Given the description of an element on the screen output the (x, y) to click on. 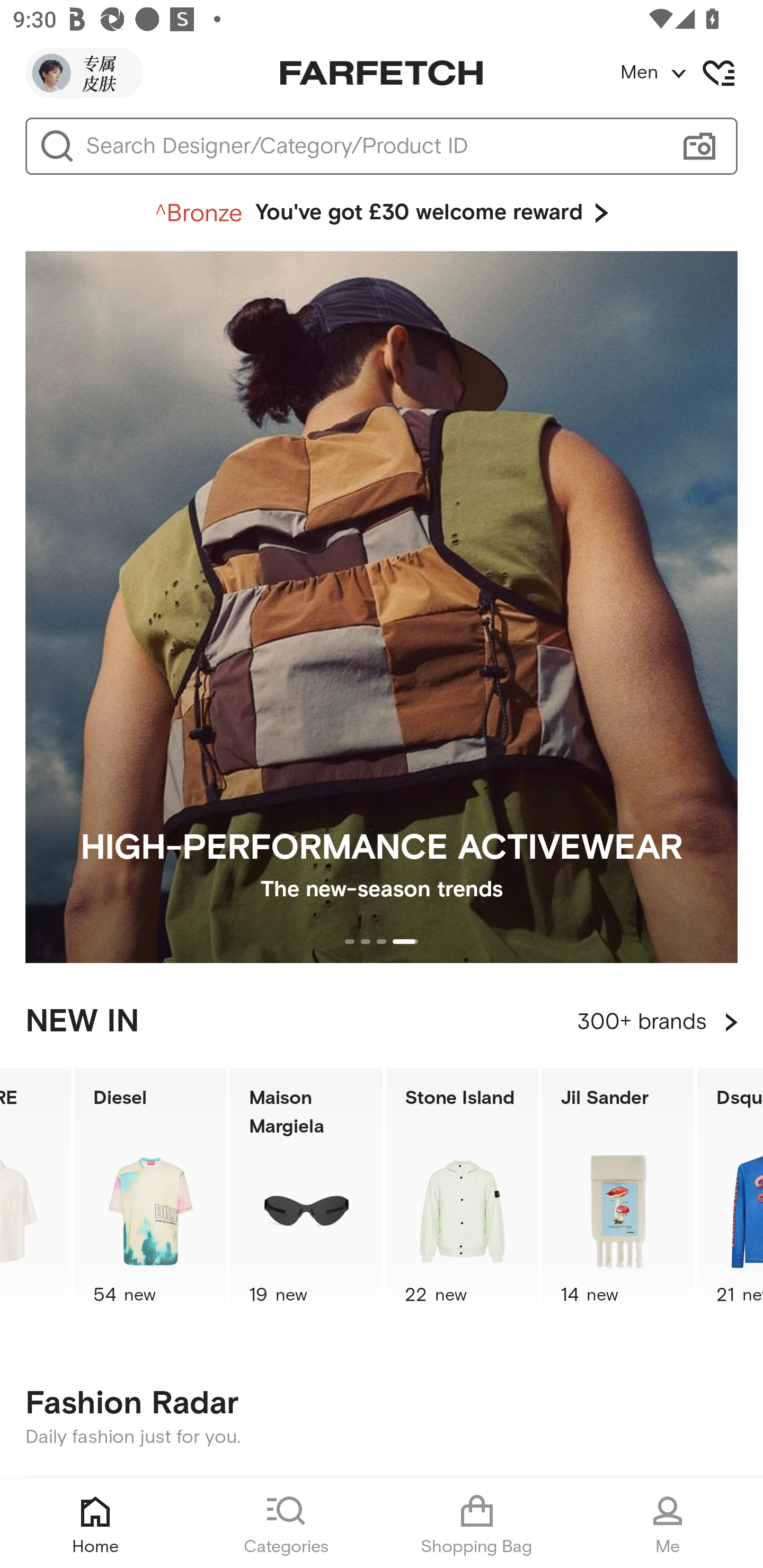
Men (691, 72)
Search Designer/Category/Product ID (373, 146)
You've got £30 welcome reward (381, 213)
NEW IN 300+ brands (381, 1021)
Diesel 54  new (150, 1196)
Maison Margiela 19  new (305, 1196)
Stone Island 22  new (462, 1196)
Jil Sander 14  new (617, 1196)
Categories (285, 1523)
Shopping Bag (476, 1523)
Me (667, 1523)
